Given the description of an element on the screen output the (x, y) to click on. 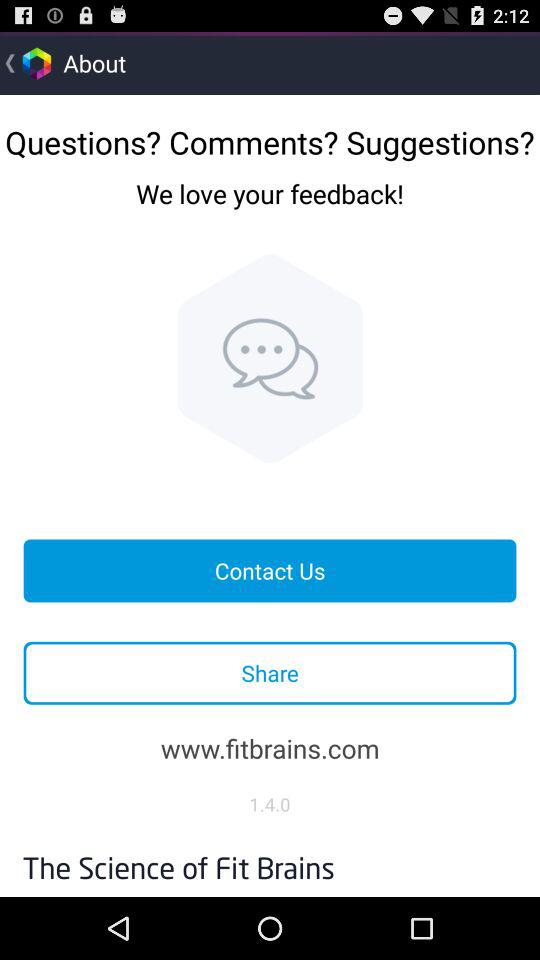
launch app above the www.fitbrains.com app (269, 672)
